Given the description of an element on the screen output the (x, y) to click on. 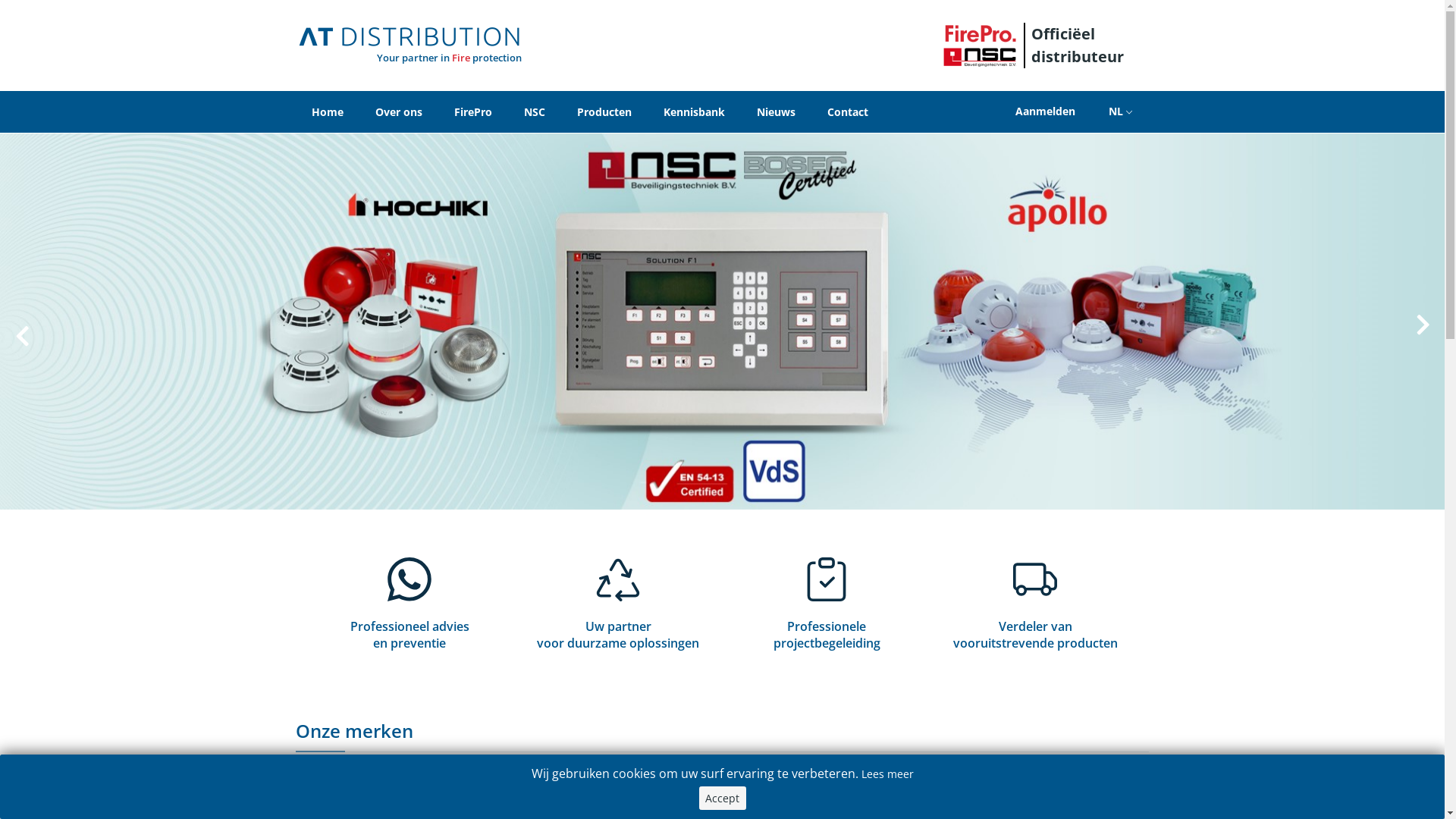
Contact Element type: text (847, 111)
Producten Element type: text (603, 111)
Nieuws Element type: text (775, 111)
Home Element type: text (327, 111)
Accept Element type: text (722, 797)
NSC Element type: text (534, 111)
NL Element type: text (1120, 111)
Kennisbank Element type: text (694, 111)
Over ons Element type: text (398, 111)
Your partner in Fire protection Element type: text (409, 45)
Lees meer Element type: text (887, 773)
FirePro Element type: text (473, 111)
Aanmelden Element type: text (1045, 111)
